Given the description of an element on the screen output the (x, y) to click on. 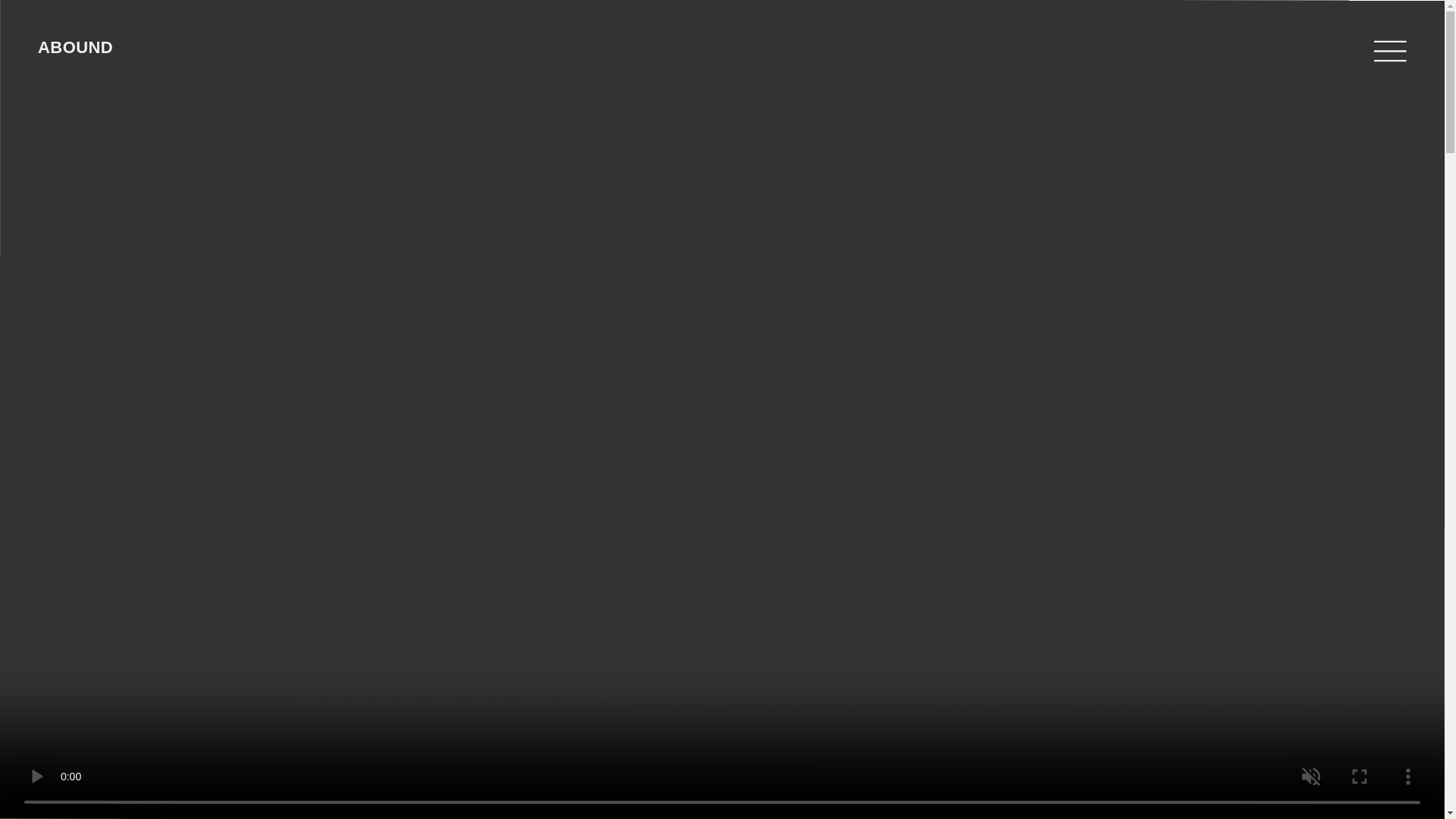
ABOUND (75, 46)
